Given the description of an element on the screen output the (x, y) to click on. 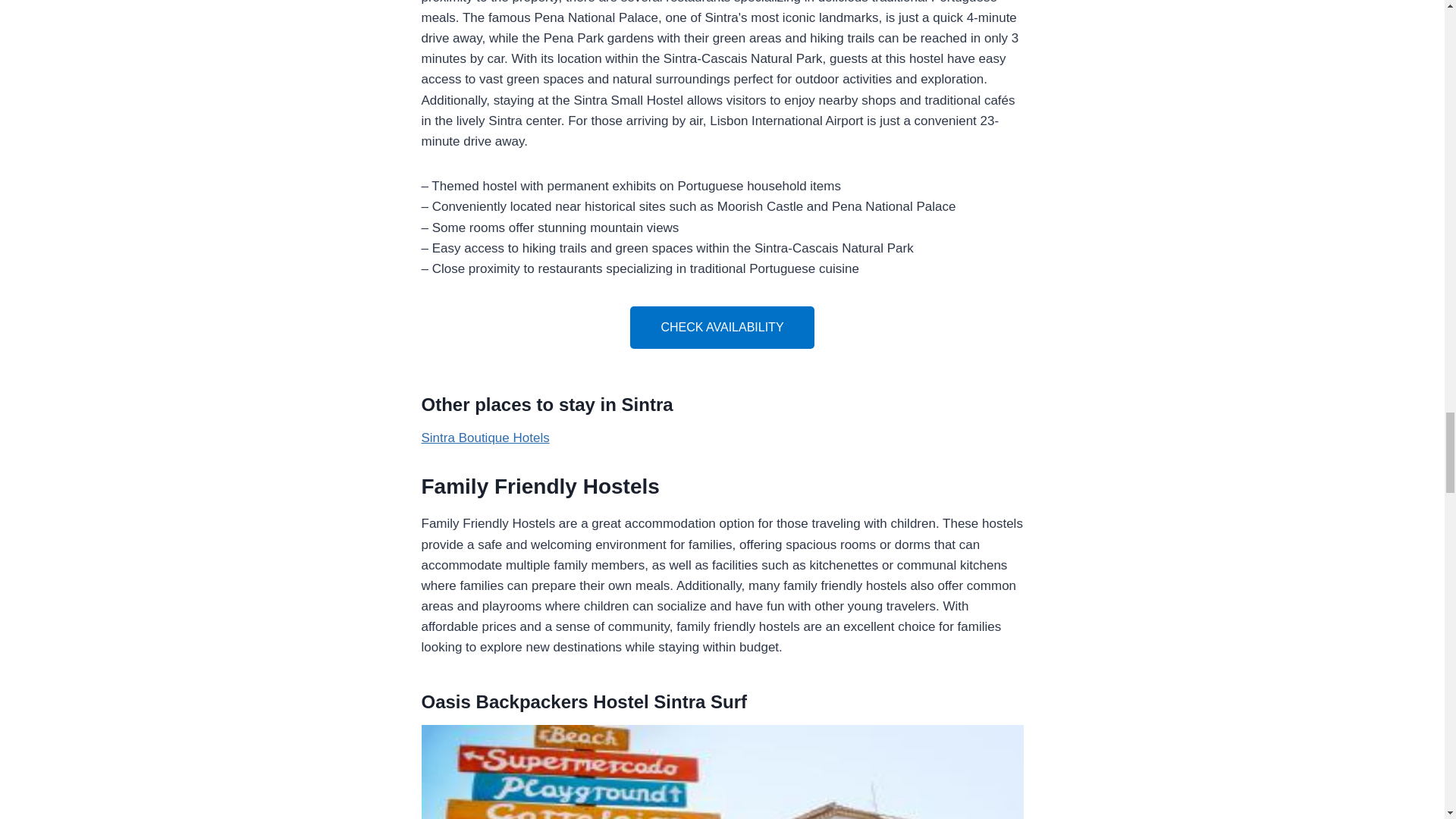
Sintra Boutique Hotels (486, 437)
